Given the description of an element on the screen output the (x, y) to click on. 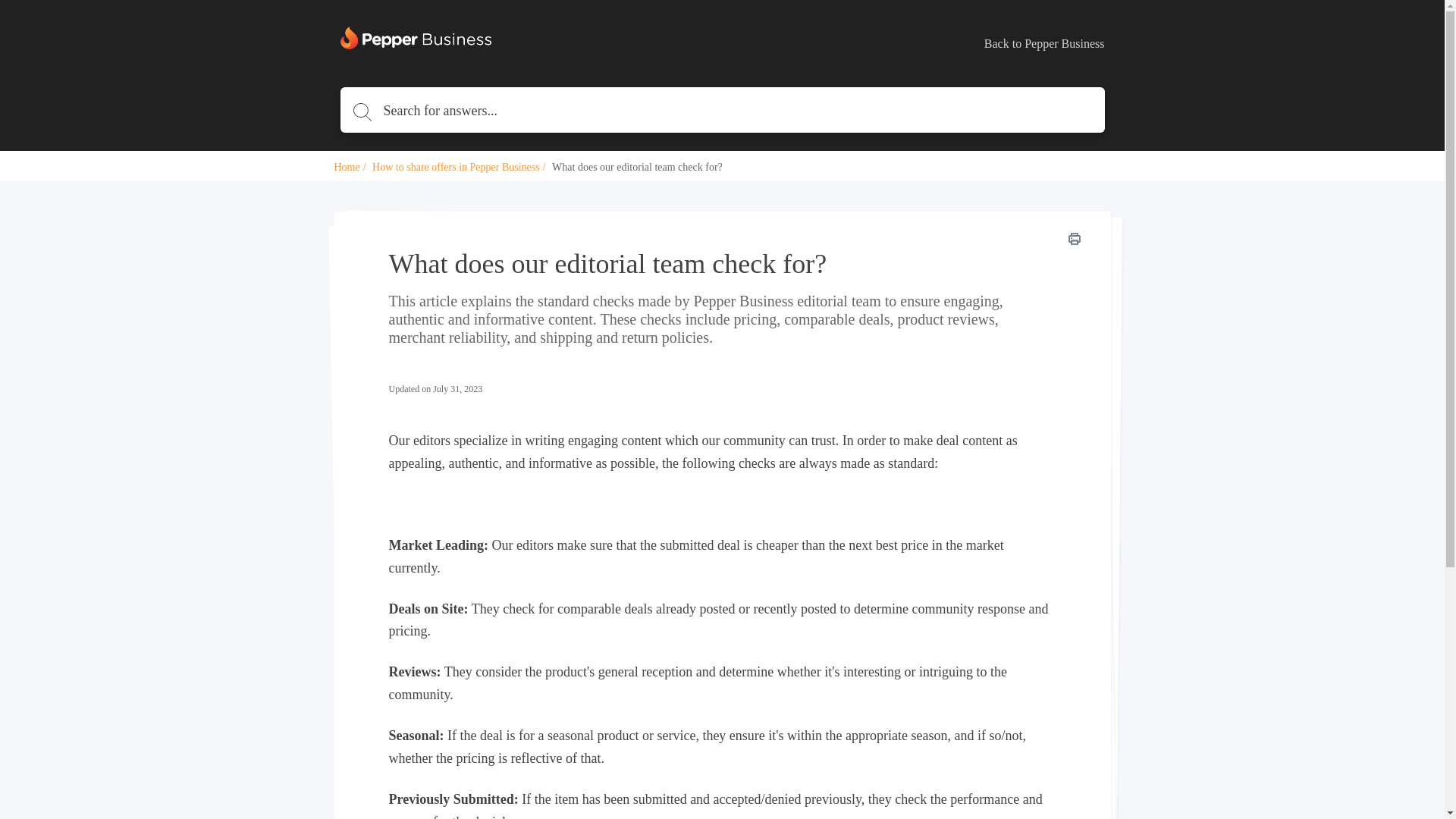
How to share offers in Pepper Business (456, 166)
Back to Pepper Business (1044, 43)
Home (346, 166)
